Given the description of an element on the screen output the (x, y) to click on. 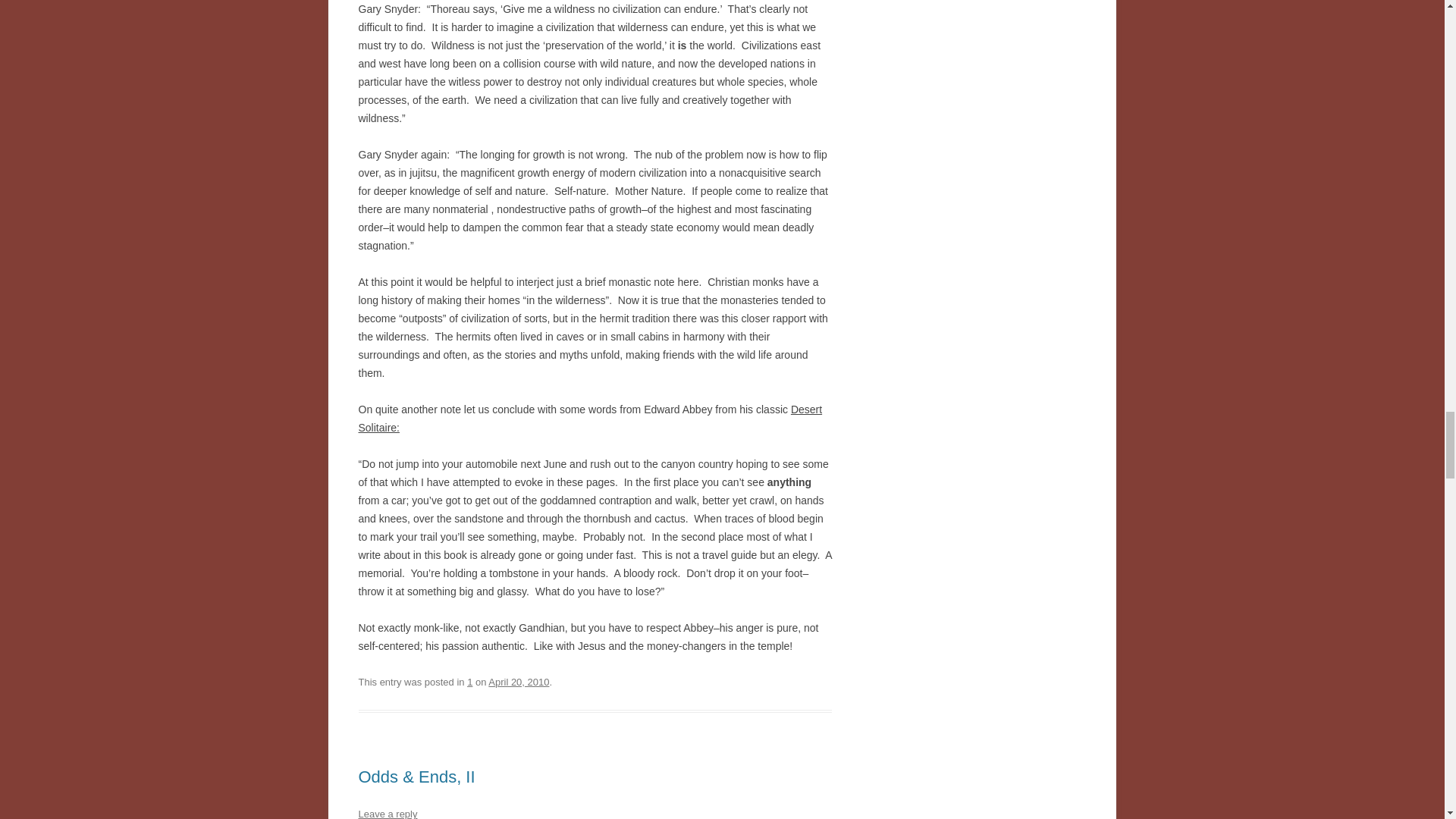
3:21 pm (517, 681)
Leave a reply (387, 813)
April 20, 2010 (517, 681)
